Given the description of an element on the screen output the (x, y) to click on. 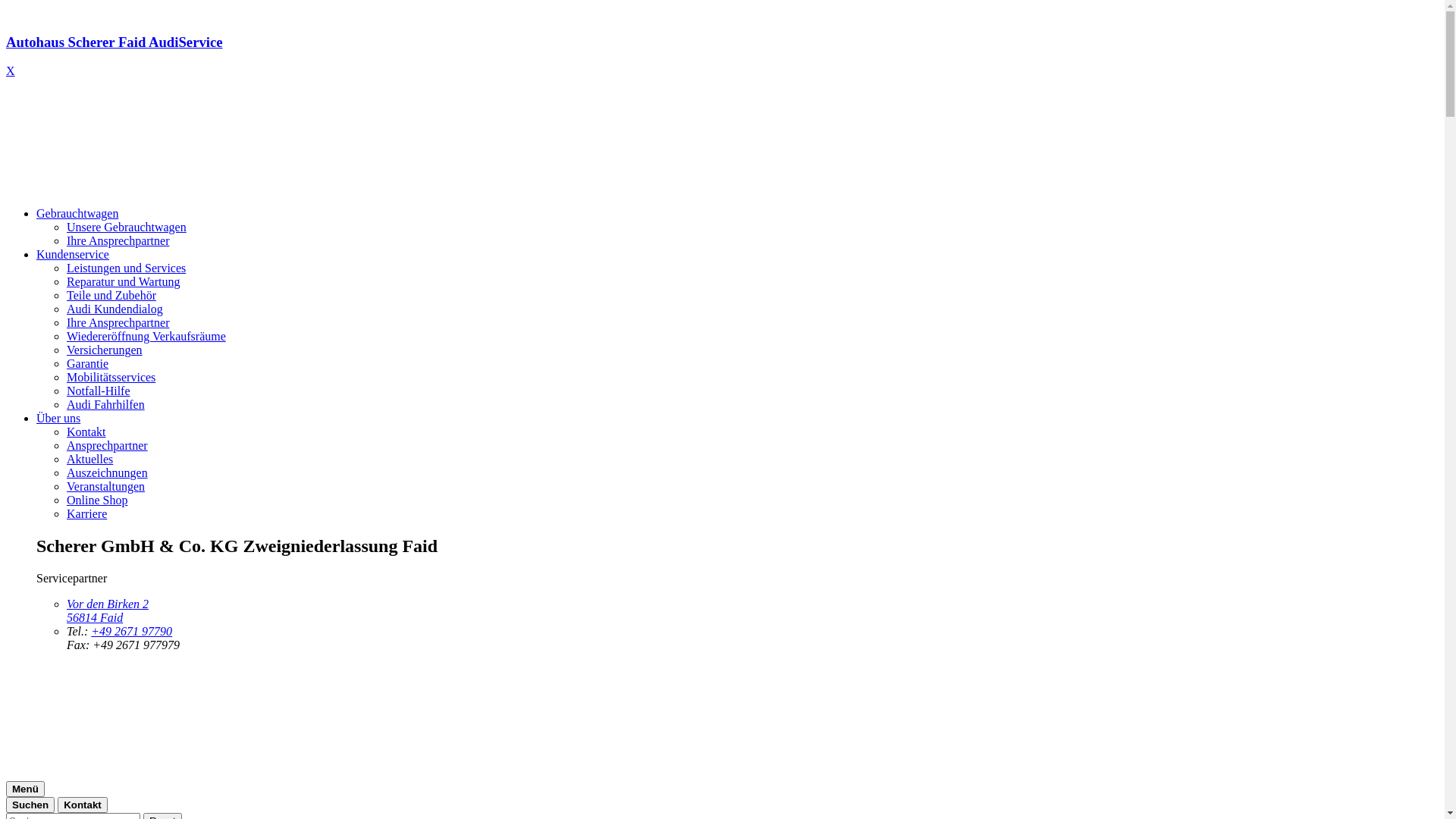
Kontakt Element type: text (86, 431)
Vor den Birken 2
56814 Faid Element type: text (107, 610)
Audi Fahrhilfen Element type: text (105, 404)
Leistungen und Services Element type: text (125, 267)
Karriere Element type: text (86, 513)
Versicherungen Element type: text (104, 349)
Online Shop Element type: text (96, 499)
X Element type: text (10, 70)
Kundenservice Element type: text (72, 253)
Aktuelles Element type: text (89, 458)
Unsere Gebrauchtwagen Element type: text (126, 226)
Ihre Ansprechpartner Element type: text (117, 322)
Autohaus Scherer Faid AudiService Element type: text (722, 56)
Ansprechpartner Element type: text (106, 445)
Gebrauchtwagen Element type: text (77, 213)
Garantie Element type: text (87, 363)
Reparatur und Wartung Element type: text (122, 281)
Audi Kundendialog Element type: text (114, 308)
Ihre Ansprechpartner Element type: text (117, 240)
+49 2671 97790 Element type: text (131, 630)
Suchen Element type: text (30, 804)
Auszeichnungen Element type: text (106, 472)
Notfall-Hilfe Element type: text (98, 390)
Veranstaltungen Element type: text (105, 486)
Kontakt Element type: text (82, 804)
